Given the description of an element on the screen output the (x, y) to click on. 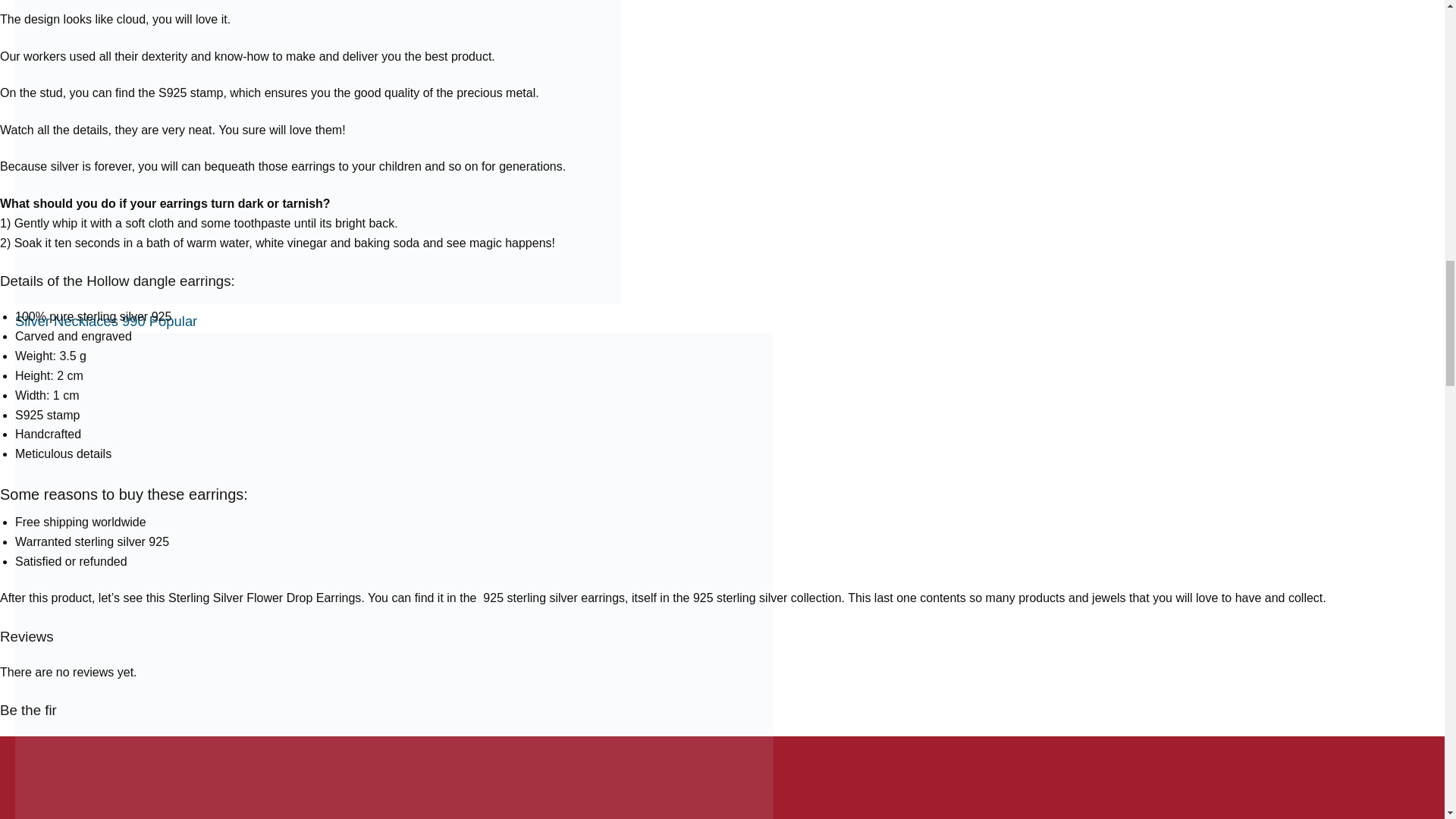
Silver Necklaces 990 (105, 320)
